Given the description of an element on the screen output the (x, y) to click on. 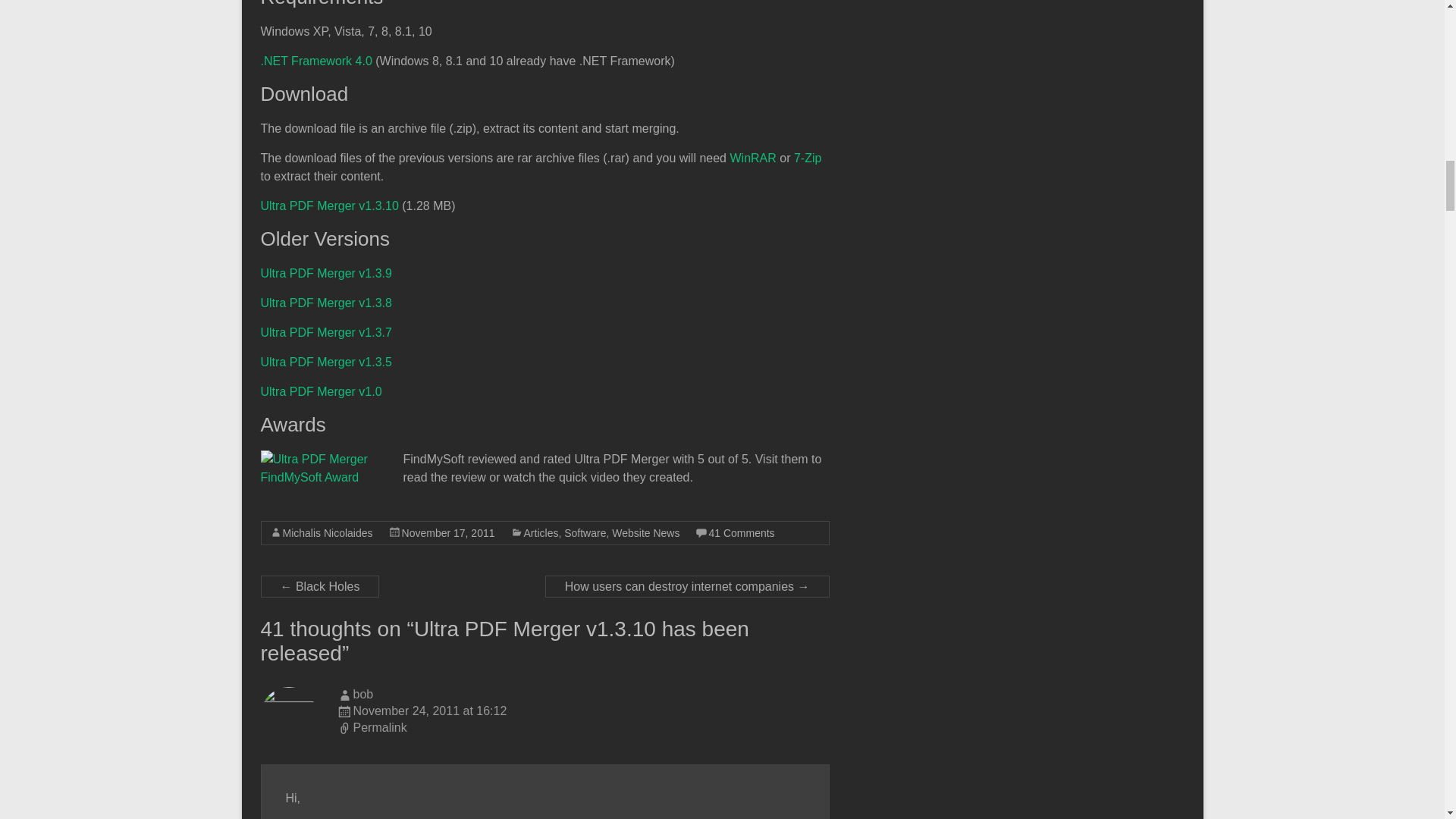
41 Comments (740, 532)
WinRAR (752, 157)
Ultra PDF Merger v1.3.9 (325, 273)
WinRAR (752, 157)
Ultra PDF Merger v1.3.7 (325, 332)
Ultra PDF Merger v1.3.10 (329, 205)
Michalis Nicolaides (327, 532)
Ultra PDF Merger v1.3.5 (325, 361)
Ultra PDF Merger v1.3.5 (325, 361)
12:41 (448, 532)
